Given the description of an element on the screen output the (x, y) to click on. 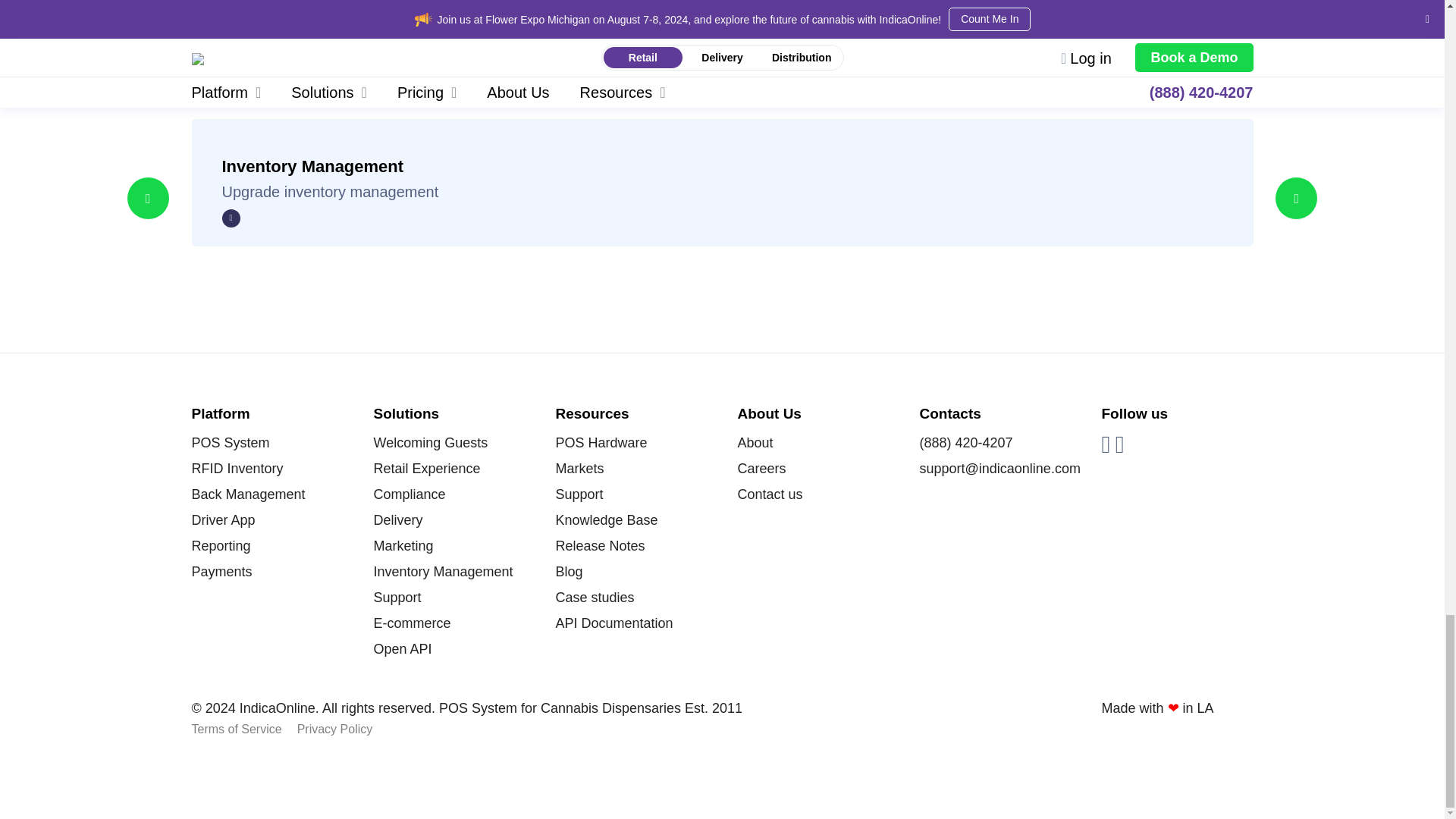
indicaOnline YouTube (1104, 443)
indicaOnline Instagram (1119, 443)
